Given the description of an element on the screen output the (x, y) to click on. 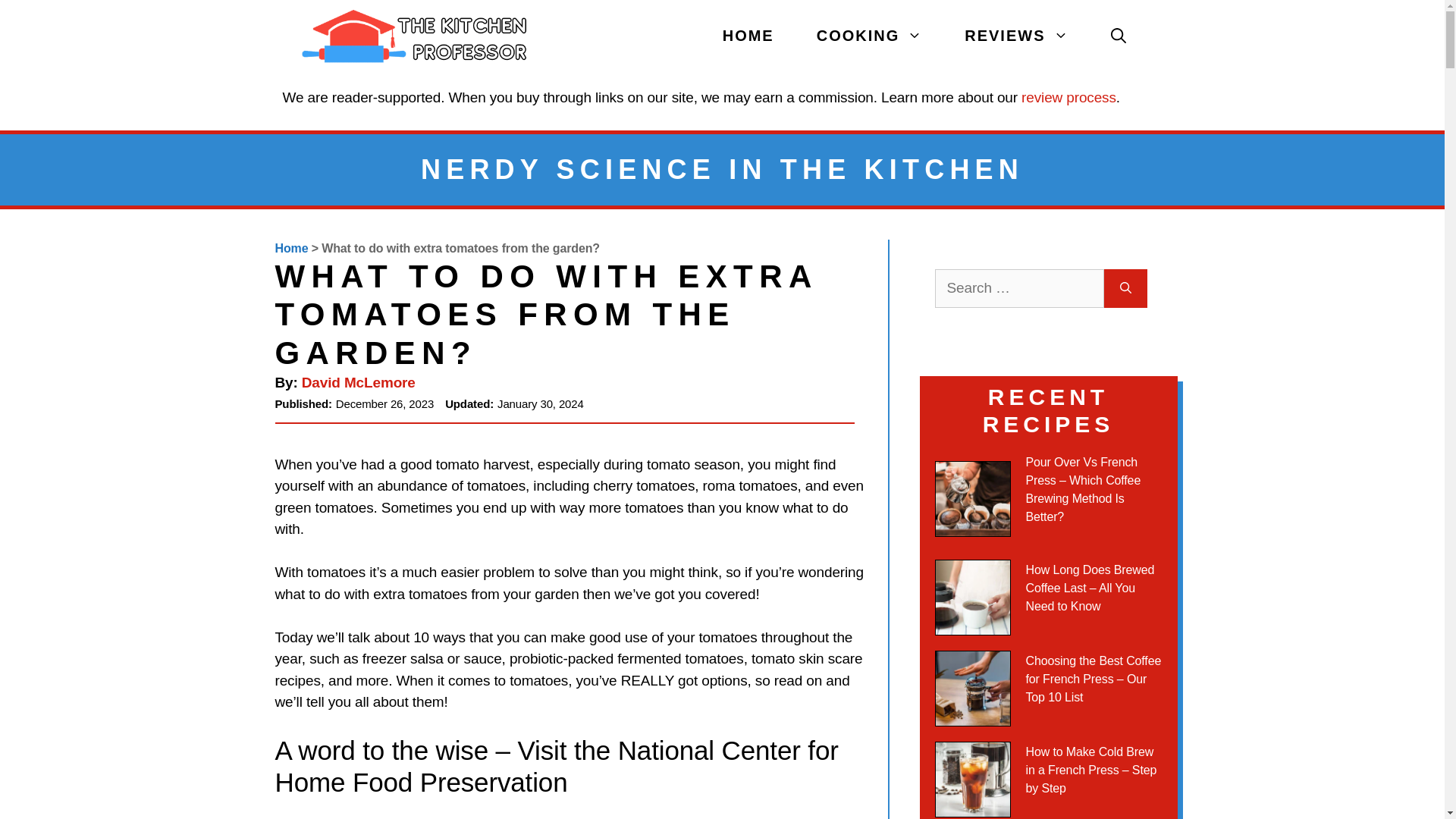
COOKING (868, 36)
REVIEWS (1016, 36)
HOME (747, 36)
